Given the description of an element on the screen output the (x, y) to click on. 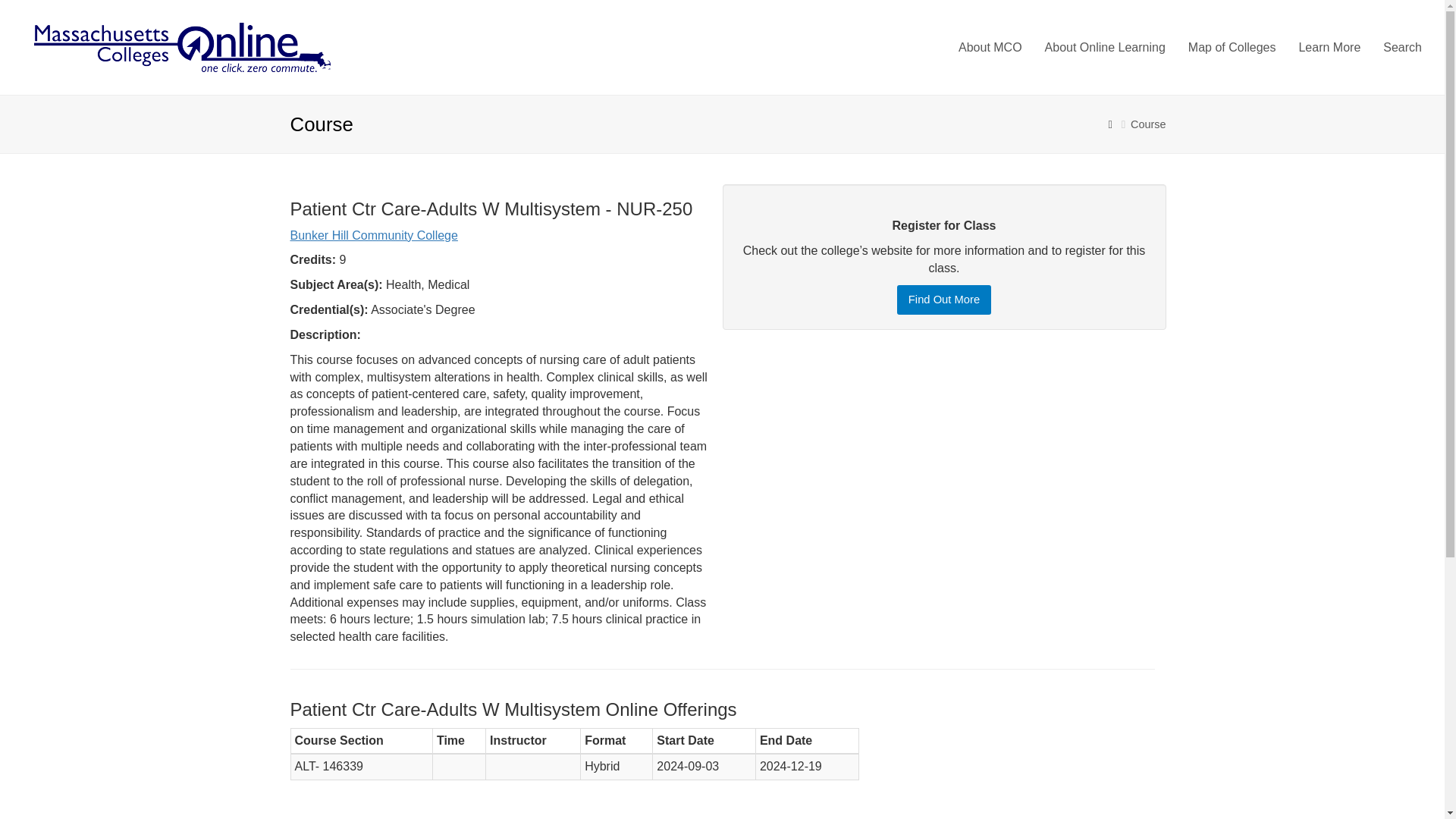
Bunker Hill Community College (373, 235)
Map of Colleges (1231, 47)
About MCO (990, 47)
Learn More (1329, 47)
Find Out More (943, 299)
Search (1401, 47)
Massachusetts Colleges Online (181, 46)
About Online Learning (1104, 47)
